Given the description of an element on the screen output the (x, y) to click on. 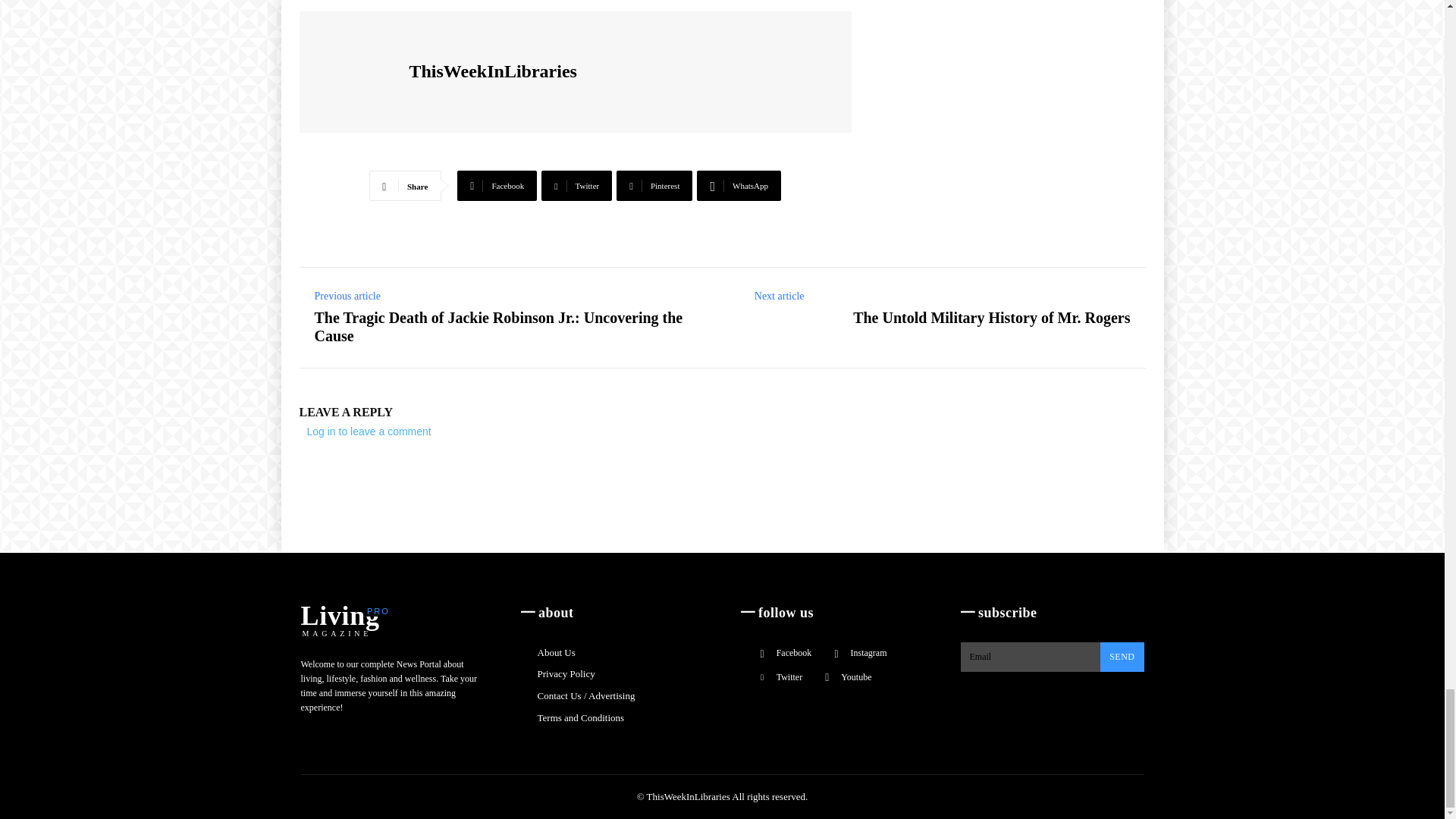
Twitter (576, 185)
Facebook (497, 185)
ThisWeekInLibraries (356, 71)
